Given the description of an element on the screen output the (x, y) to click on. 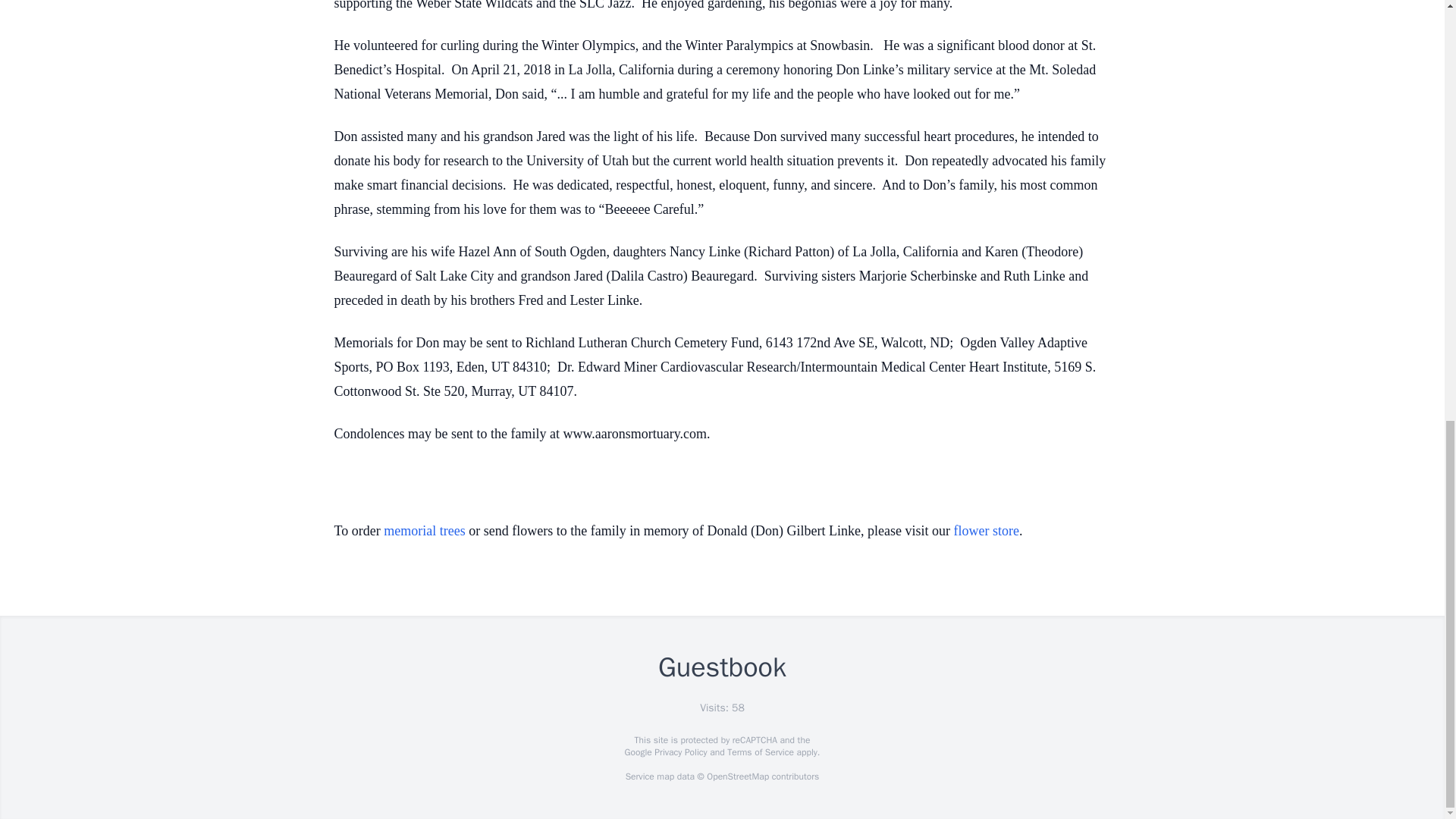
Terms of Service (759, 752)
flower store (986, 530)
memorial trees (424, 530)
OpenStreetMap (737, 776)
Privacy Policy (679, 752)
